Given the description of an element on the screen output the (x, y) to click on. 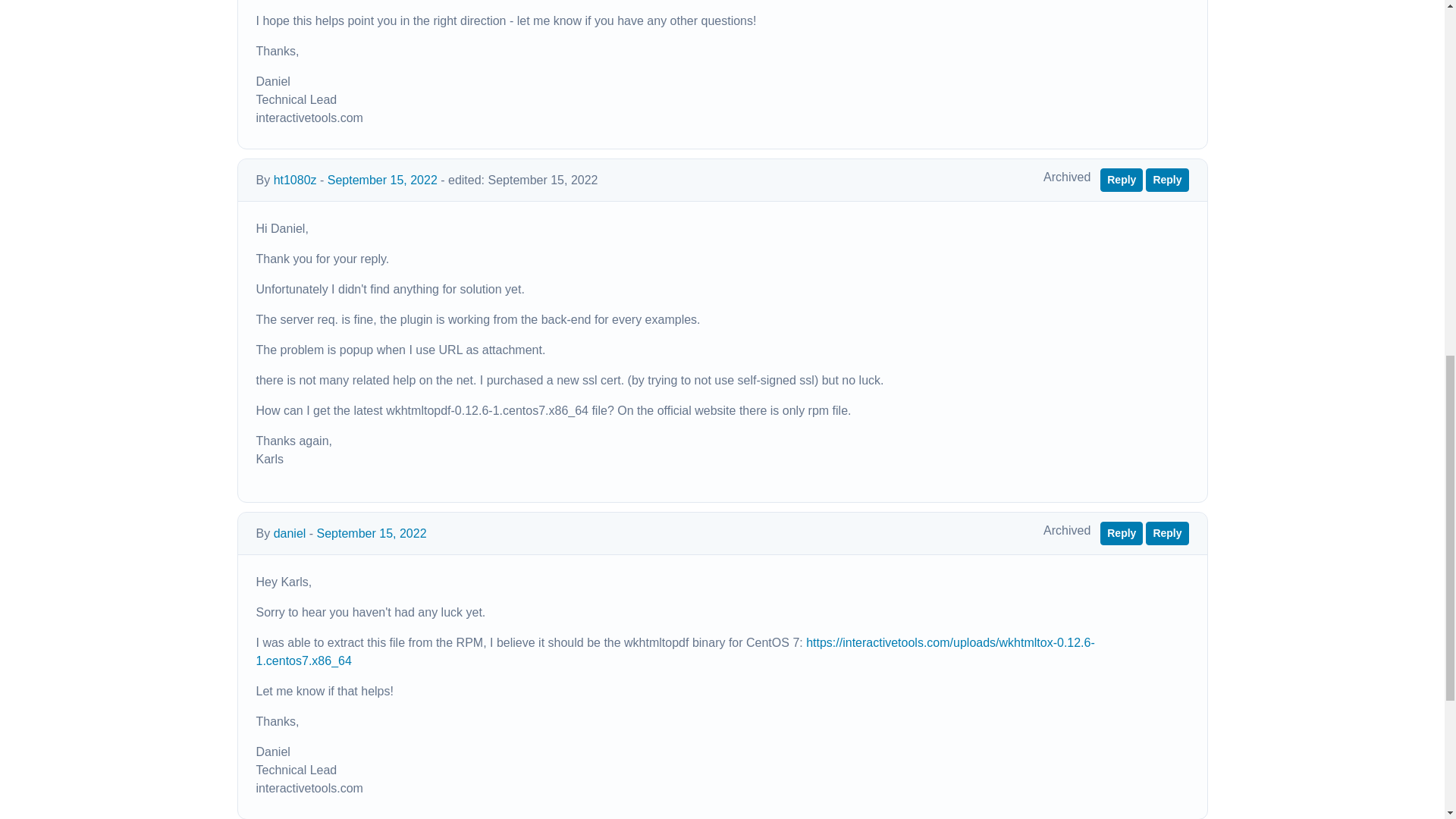
Sep 15th, 2022 5:25 pm (371, 533)
Sep 15th, 2022 12:54 pm (541, 179)
Sep 15th, 2022 12:50 pm (382, 179)
